Given the description of an element on the screen output the (x, y) to click on. 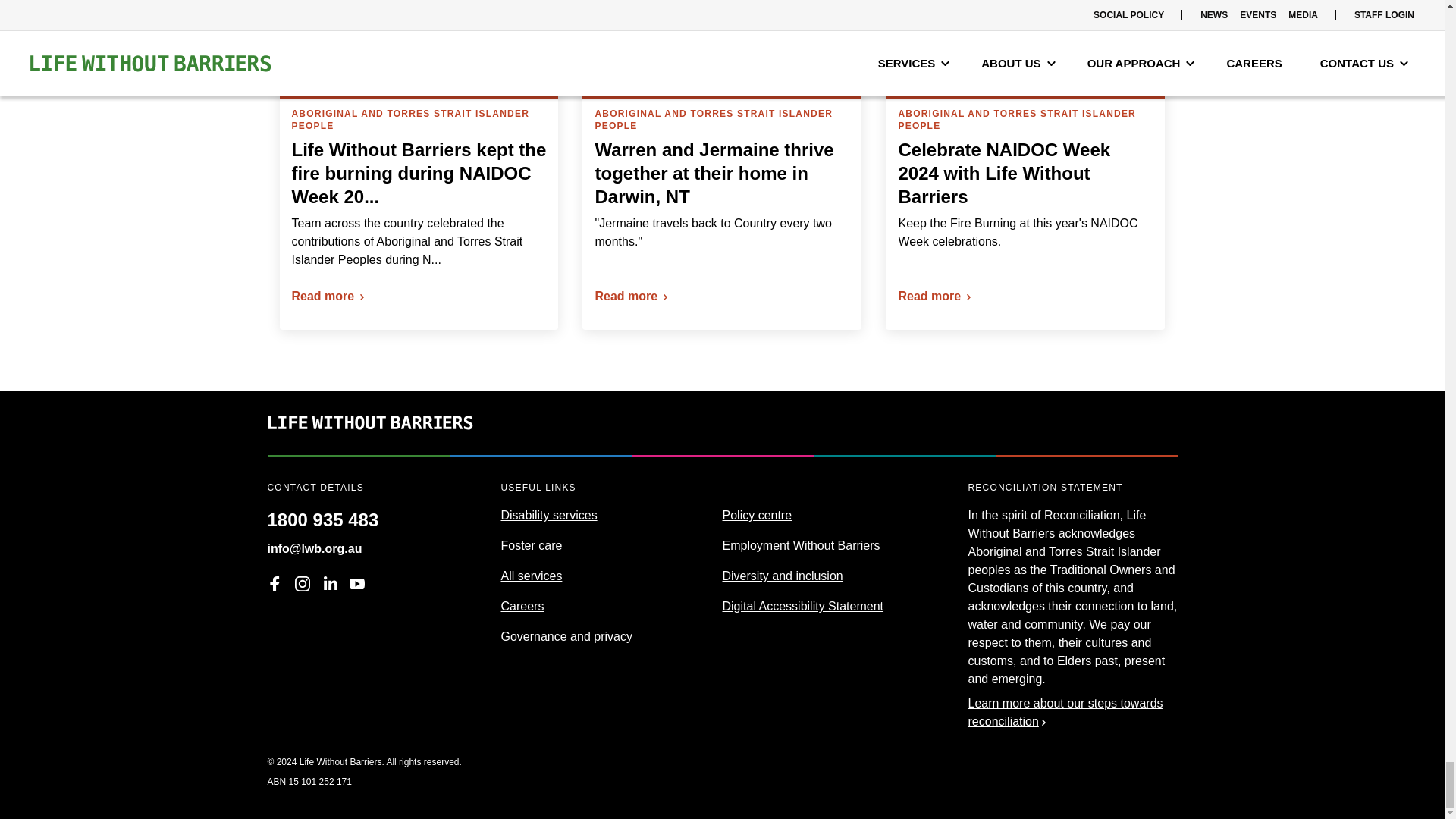
Life Without Barriers home page (368, 445)
